Given the description of an element on the screen output the (x, y) to click on. 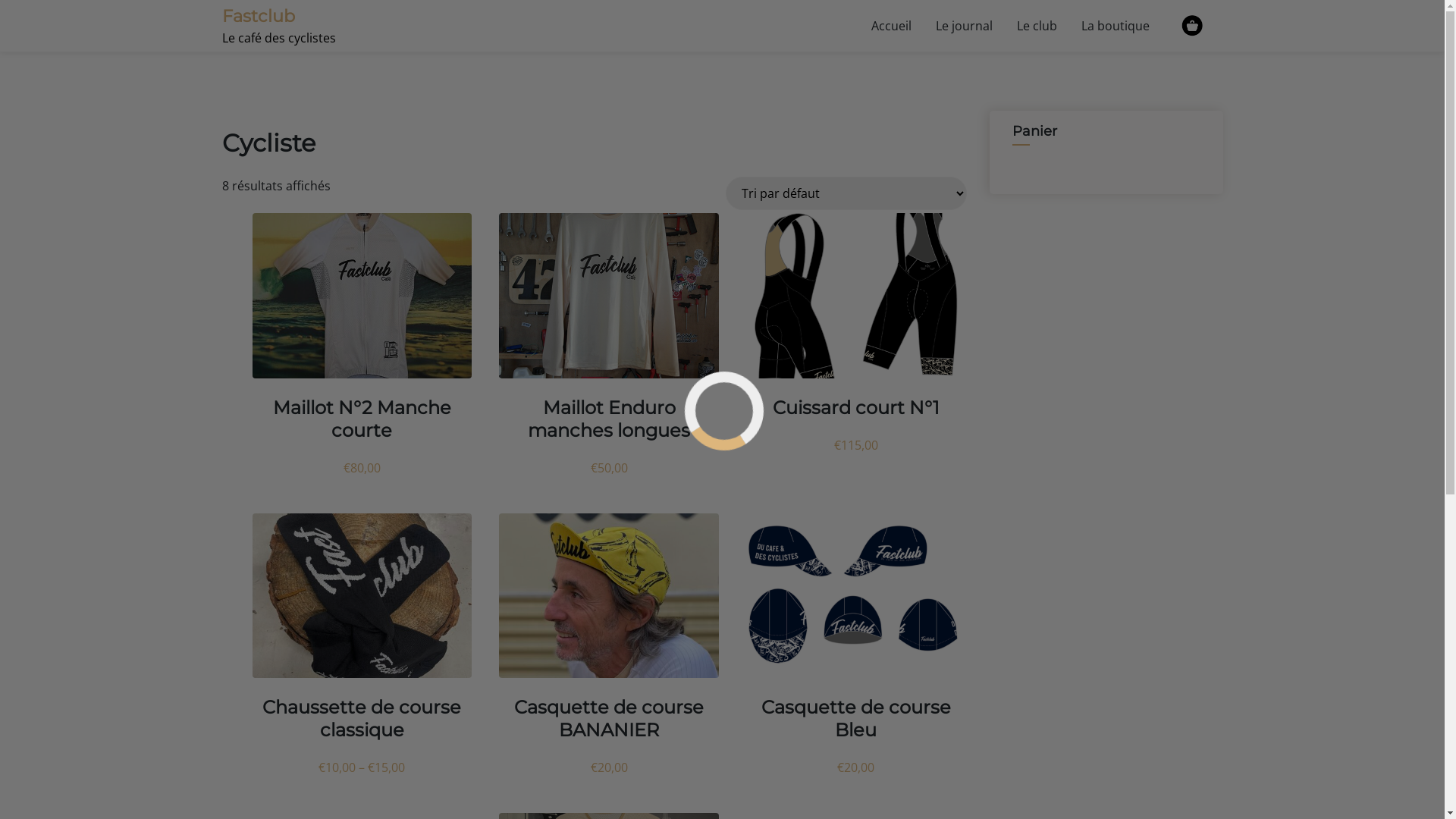
Le club Element type: text (1036, 25)
La boutique Element type: text (1115, 25)
Panier Element type: text (1192, 25)
Accueil Element type: text (890, 25)
Le journal Element type: text (963, 25)
Fastclub Element type: text (257, 15)
Skip to content Element type: text (0, 0)
